Given the description of an element on the screen output the (x, y) to click on. 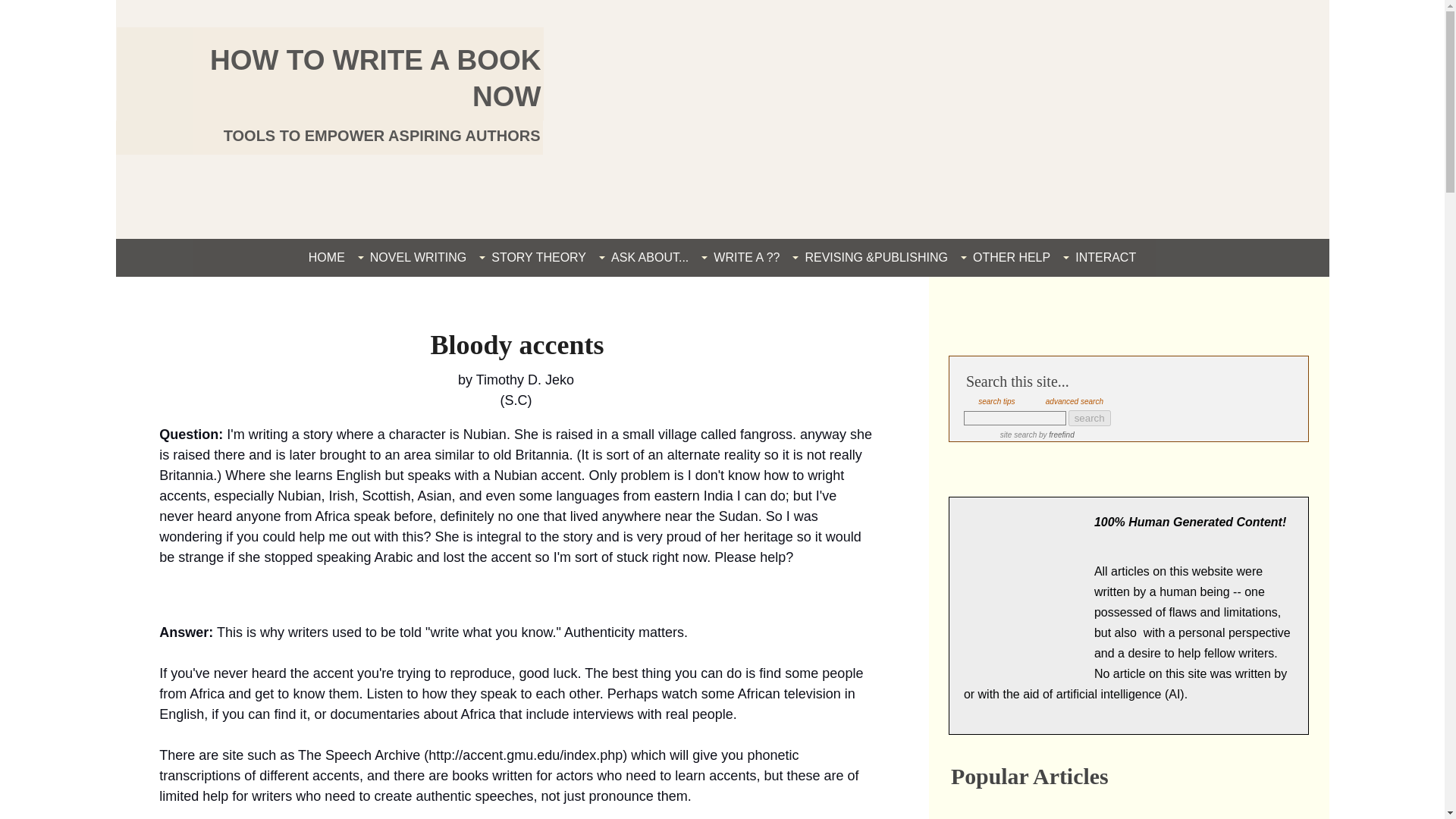
search tips (996, 401)
advanced search (1074, 401)
by freefind (1055, 434)
how to write horror (1141, 808)
search (1089, 417)
HOME (326, 257)
write a synopsis (1009, 808)
HOW TO WRITE A BOOK NOW (374, 78)
search (1089, 417)
site search (1018, 434)
